Given the description of an element on the screen output the (x, y) to click on. 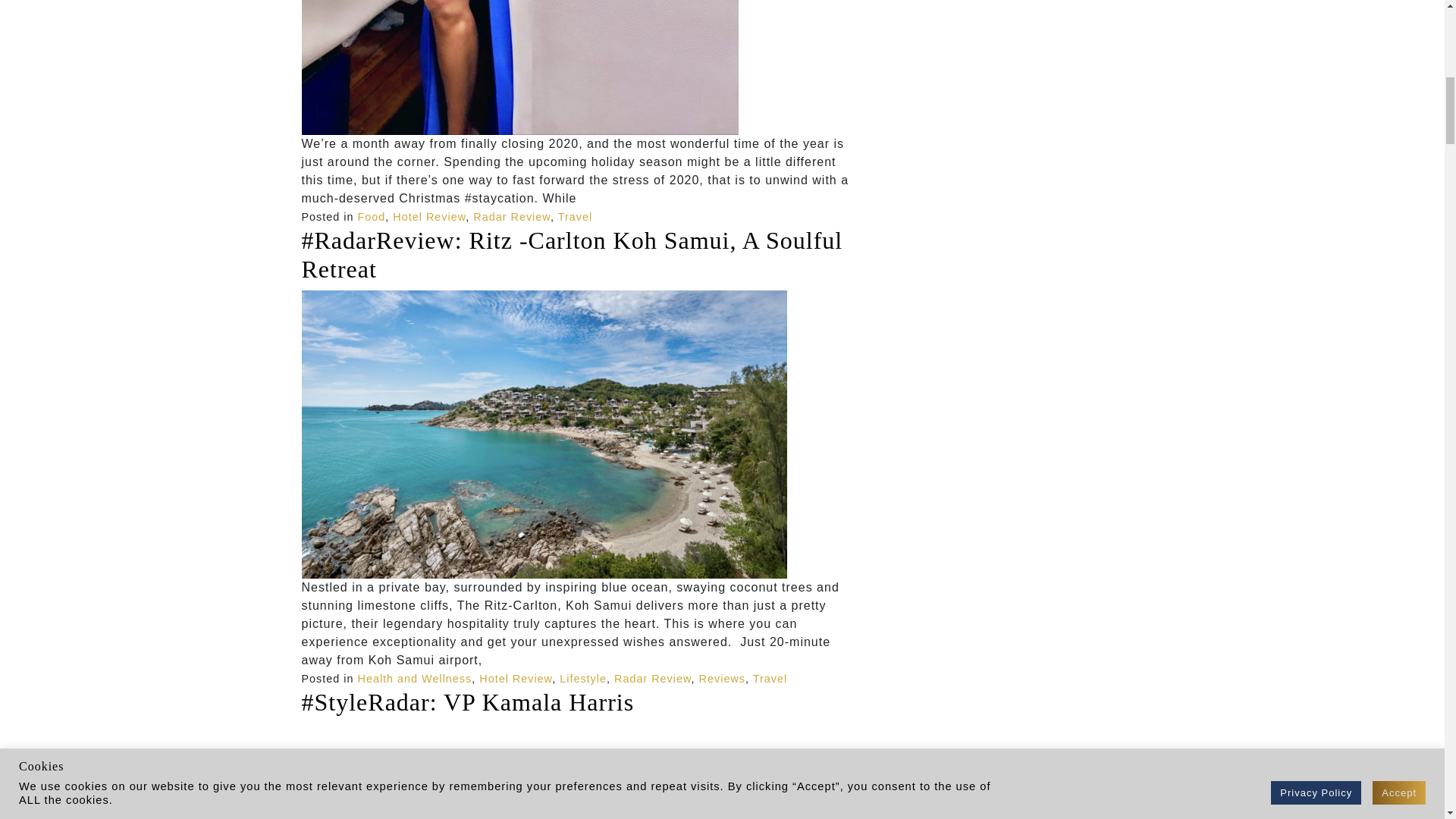
Reviews (721, 678)
Hotel Review (429, 216)
Lifestyle (583, 678)
Radar Review (511, 216)
Radar Review (652, 678)
Food (371, 216)
Hotel Review (515, 678)
Health and Wellness (414, 678)
Travel (769, 678)
Travel (574, 216)
